Given the description of an element on the screen output the (x, y) to click on. 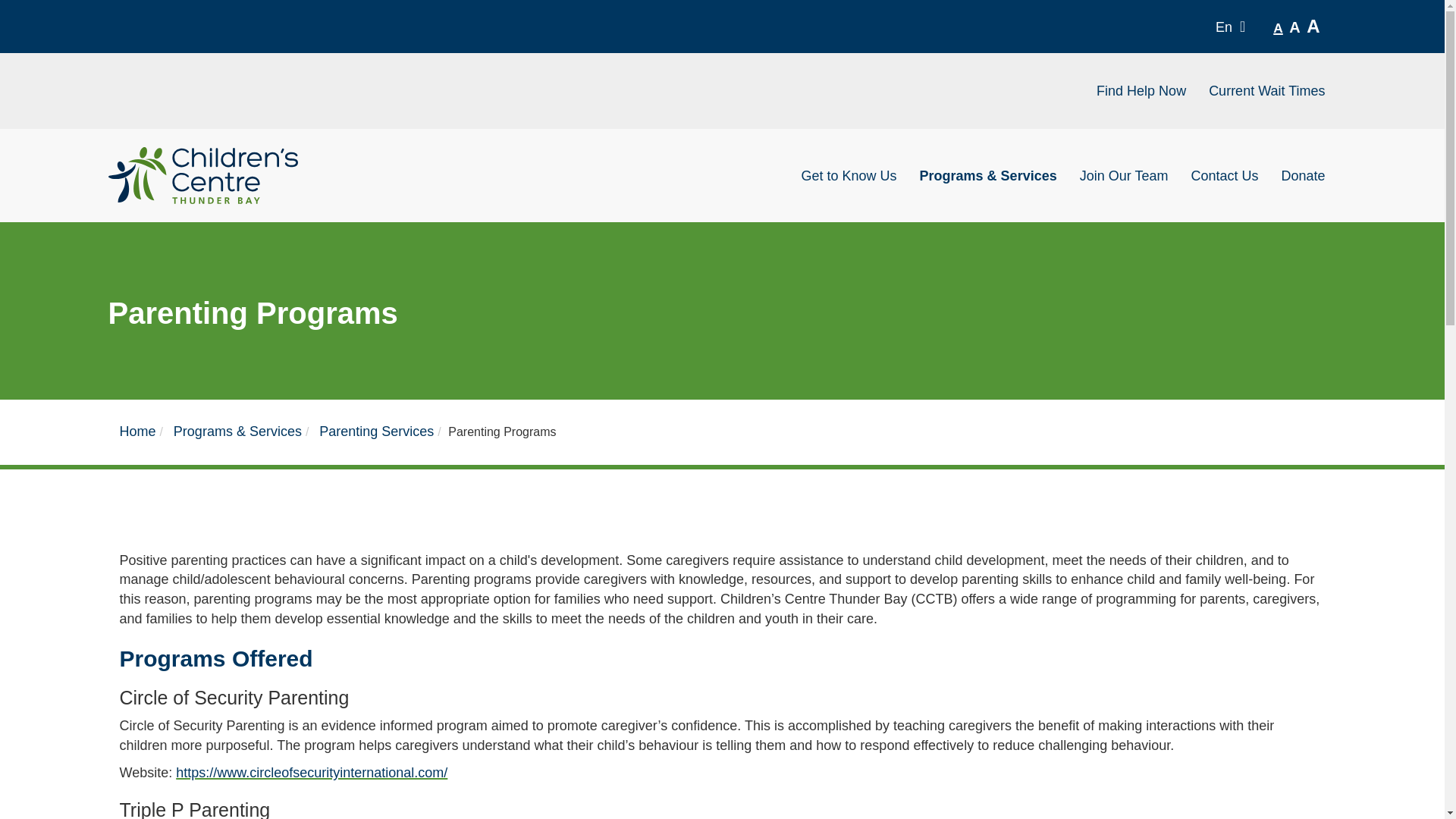
Get to Know Us (849, 175)
Home (137, 431)
Parenting Services (375, 431)
Children's Centre Thunder Bay (202, 175)
A (1312, 26)
Donate (1302, 175)
En  (1235, 27)
Find Help Now (1140, 90)
A (1294, 26)
Contact Us (1224, 175)
A (1277, 26)
Current Wait Times (1266, 90)
Join Our Team (1123, 175)
